Given the description of an element on the screen output the (x, y) to click on. 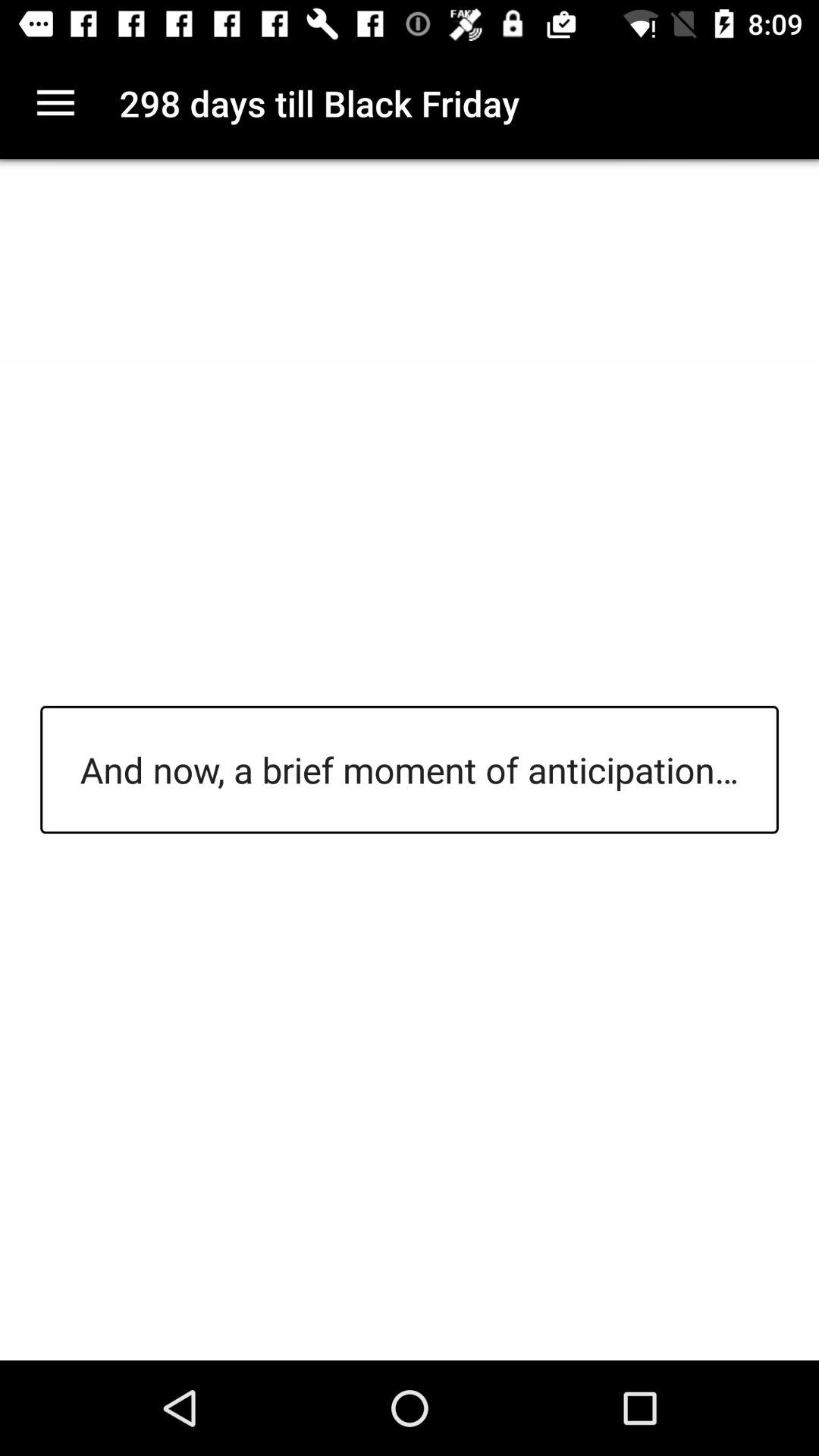
turn on the app to the left of 298 days till app (55, 103)
